Given the description of an element on the screen output the (x, y) to click on. 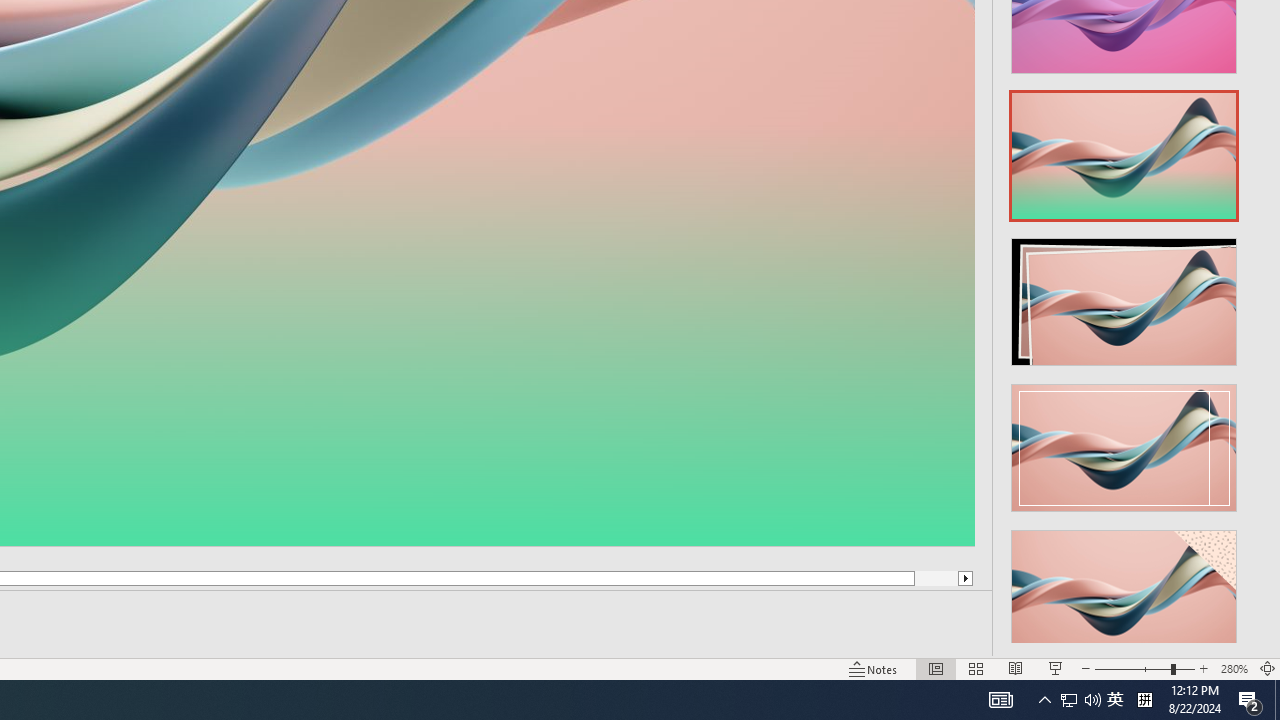
Zoom 280% (1234, 668)
